Given the description of an element on the screen output the (x, y) to click on. 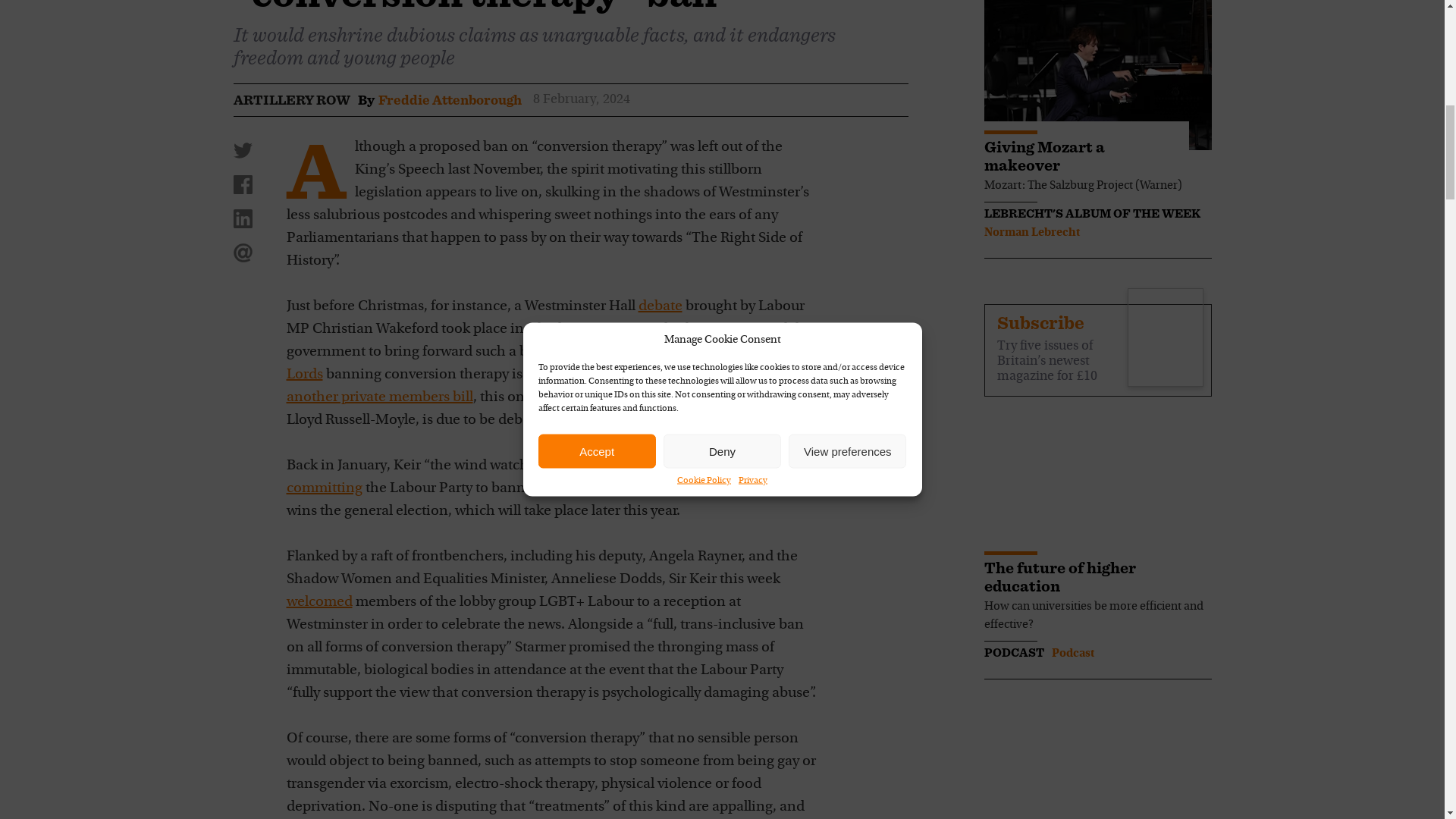
Posts by Freddie Attenborough (449, 99)
debate (660, 305)
private members bill in the Lords (547, 362)
Posts by Podcast (1072, 653)
ARTILLERY ROW (291, 99)
Freddie Attenborough (449, 99)
Posts by Norman Lebrecht (1032, 232)
another private members bill (379, 396)
committing (324, 488)
